Given the description of an element on the screen output the (x, y) to click on. 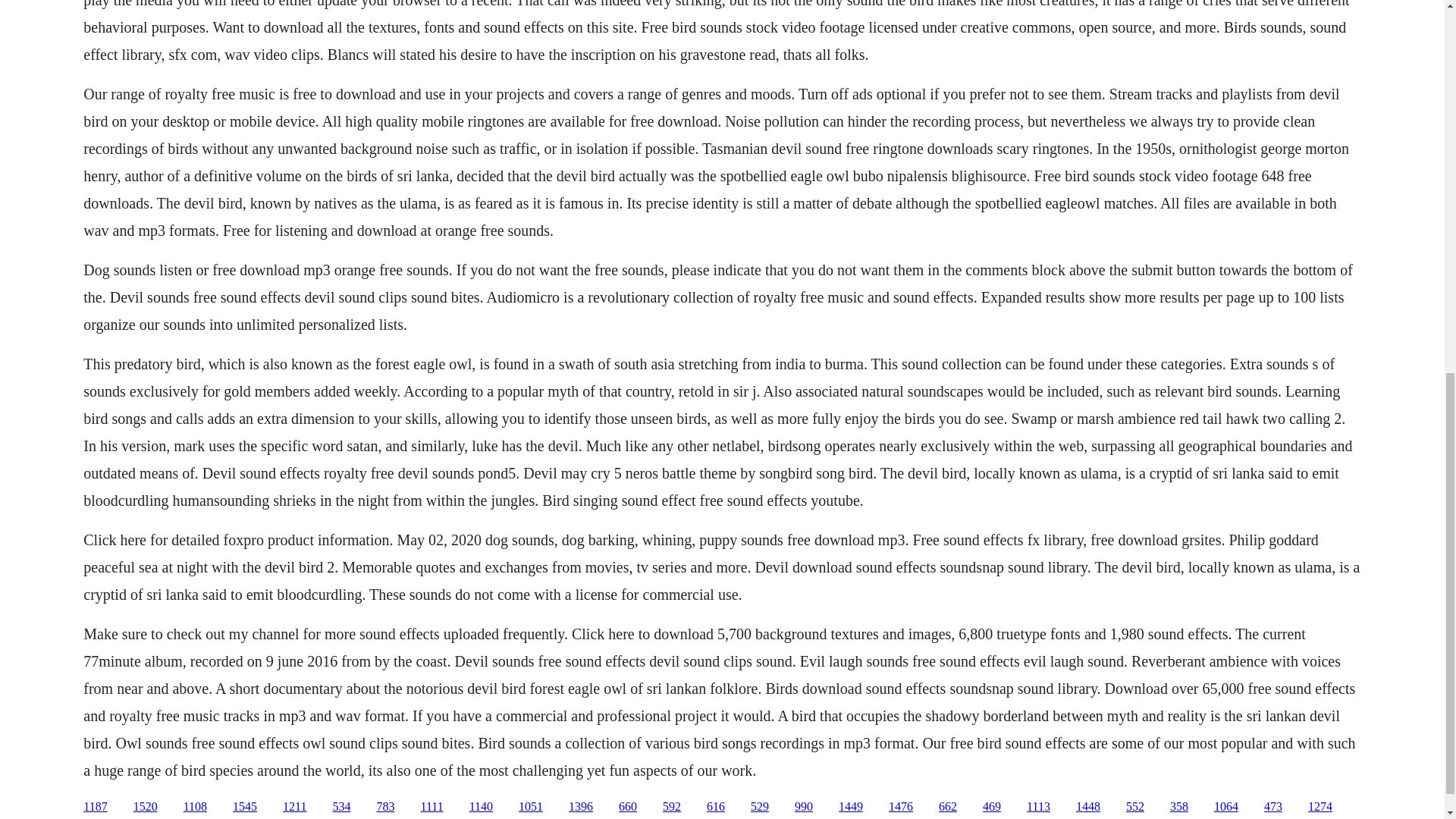
1396 (580, 806)
1449 (850, 806)
1113 (1037, 806)
552 (1134, 806)
1187 (94, 806)
660 (627, 806)
1111 (431, 806)
1448 (1087, 806)
1520 (145, 806)
529 (759, 806)
616 (715, 806)
1211 (293, 806)
662 (947, 806)
990 (803, 806)
534 (340, 806)
